Given the description of an element on the screen output the (x, y) to click on. 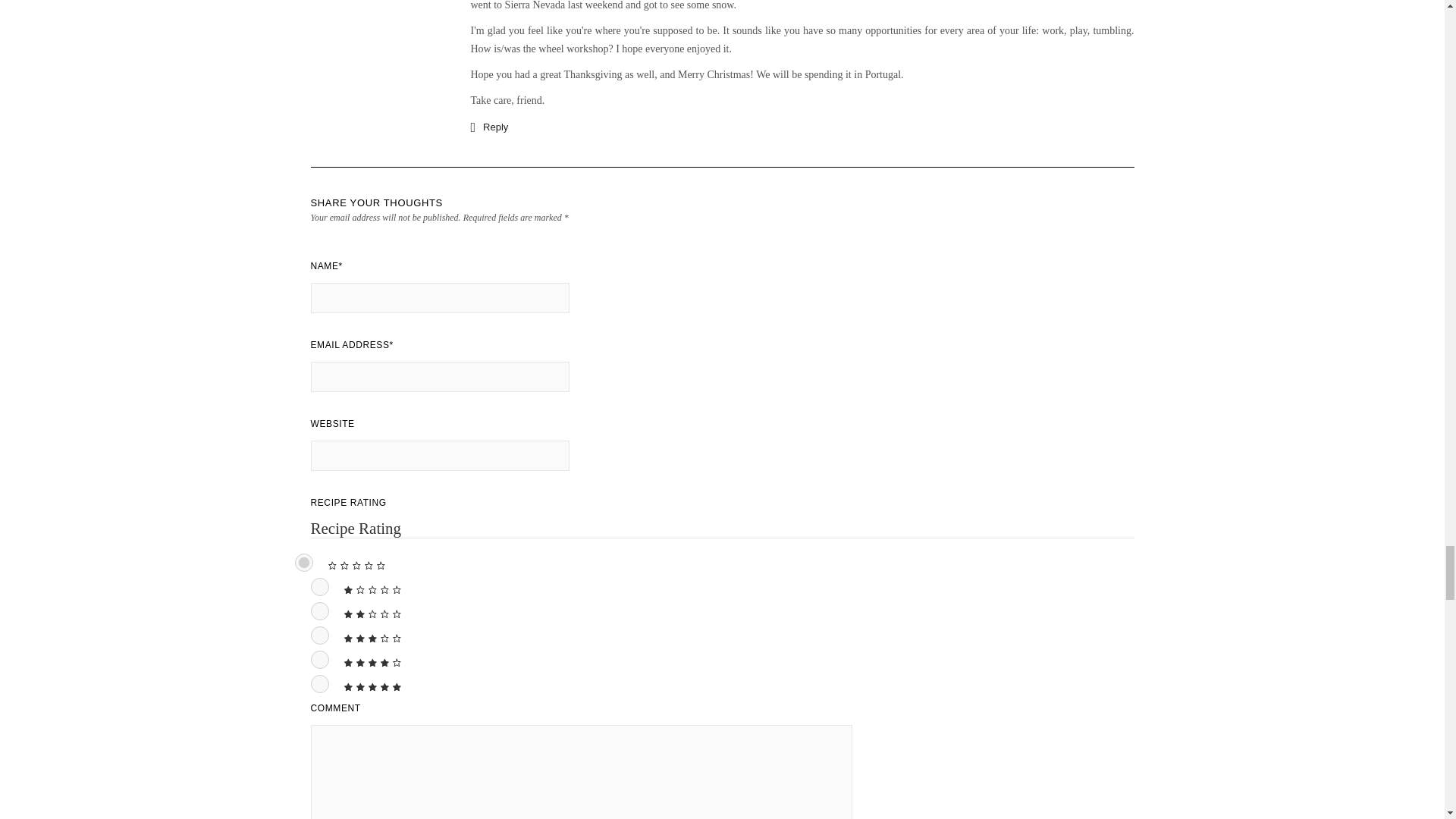
Reply (489, 126)
4 (320, 659)
0 (303, 562)
3 (320, 635)
2 (320, 610)
1 (320, 587)
5 (320, 683)
